Given the description of an element on the screen output the (x, y) to click on. 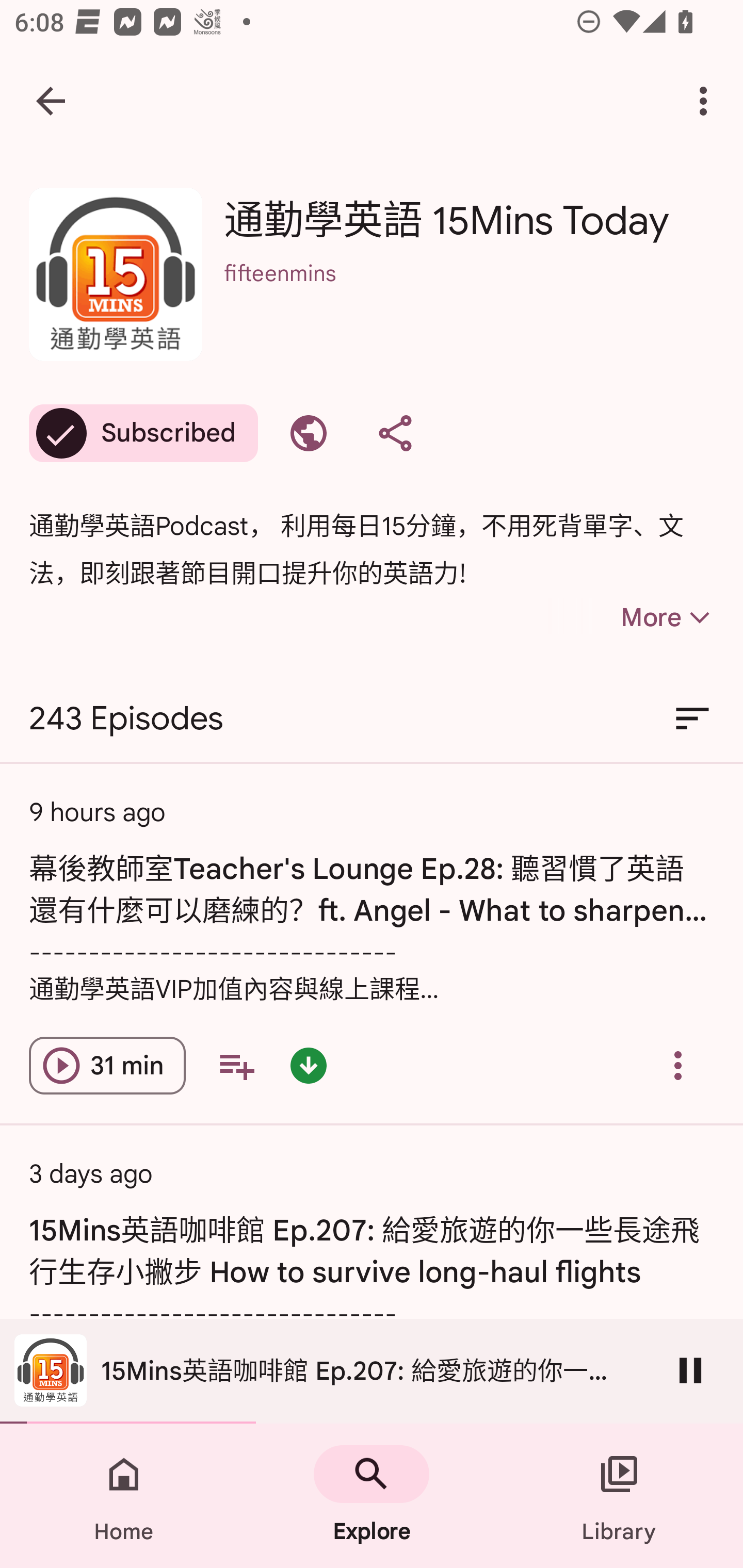
Navigate up (50, 101)
More options (706, 101)
fifteenmins (468, 300)
Subscribed (142, 433)
Visit website (308, 433)
Share (395, 433)
More (631, 616)
Sort (692, 718)
Add to your queue (235, 1065)
Episode downloaded - double tap for options (308, 1065)
Overflow menu (677, 1065)
Pause (690, 1370)
Home (123, 1495)
Library (619, 1495)
